Given the description of an element on the screen output the (x, y) to click on. 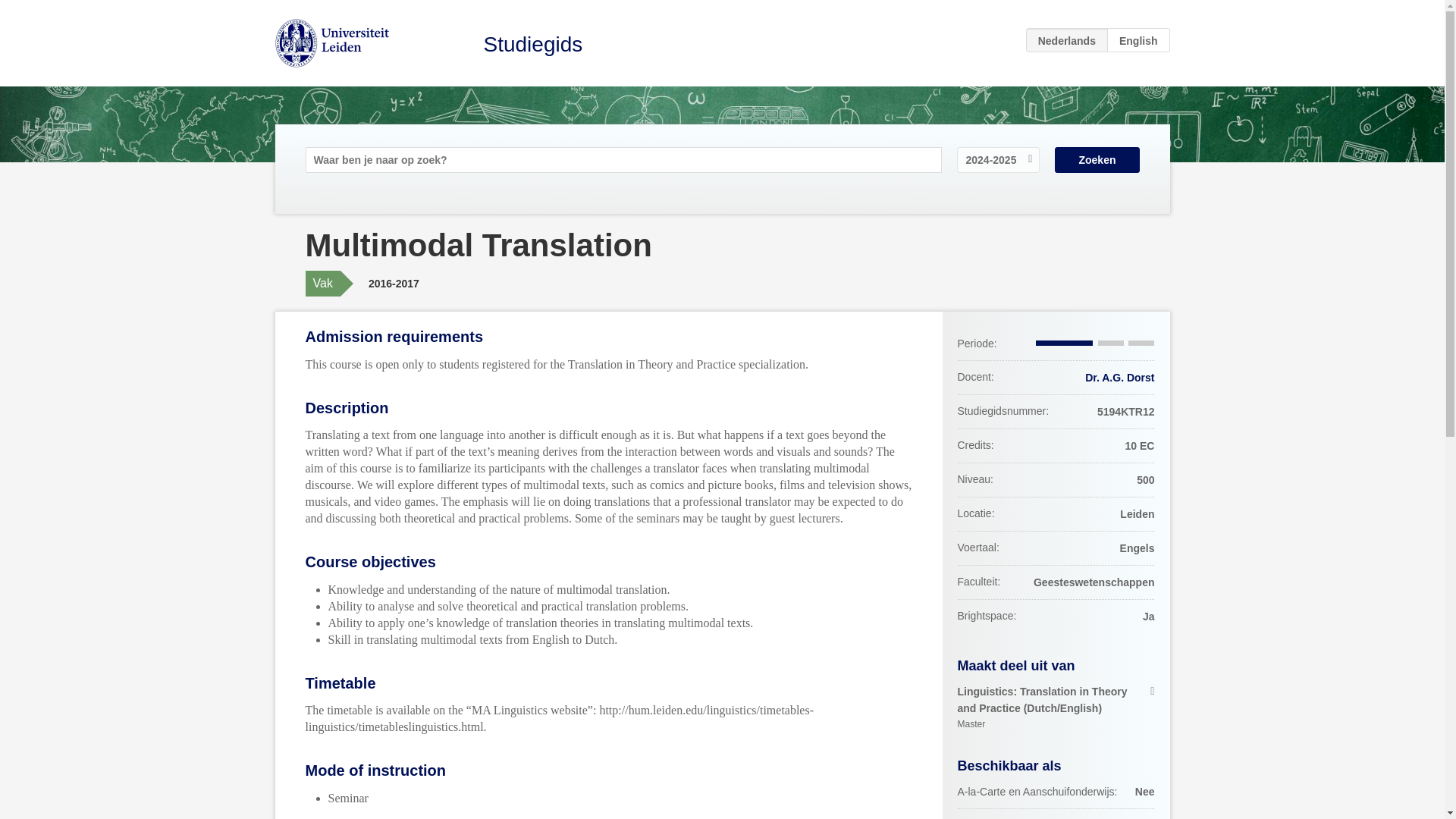
Studiegids (533, 44)
Dr. A.G. Dorst (1119, 377)
Zoeken (1096, 159)
EN (1138, 39)
